Given the description of an element on the screen output the (x, y) to click on. 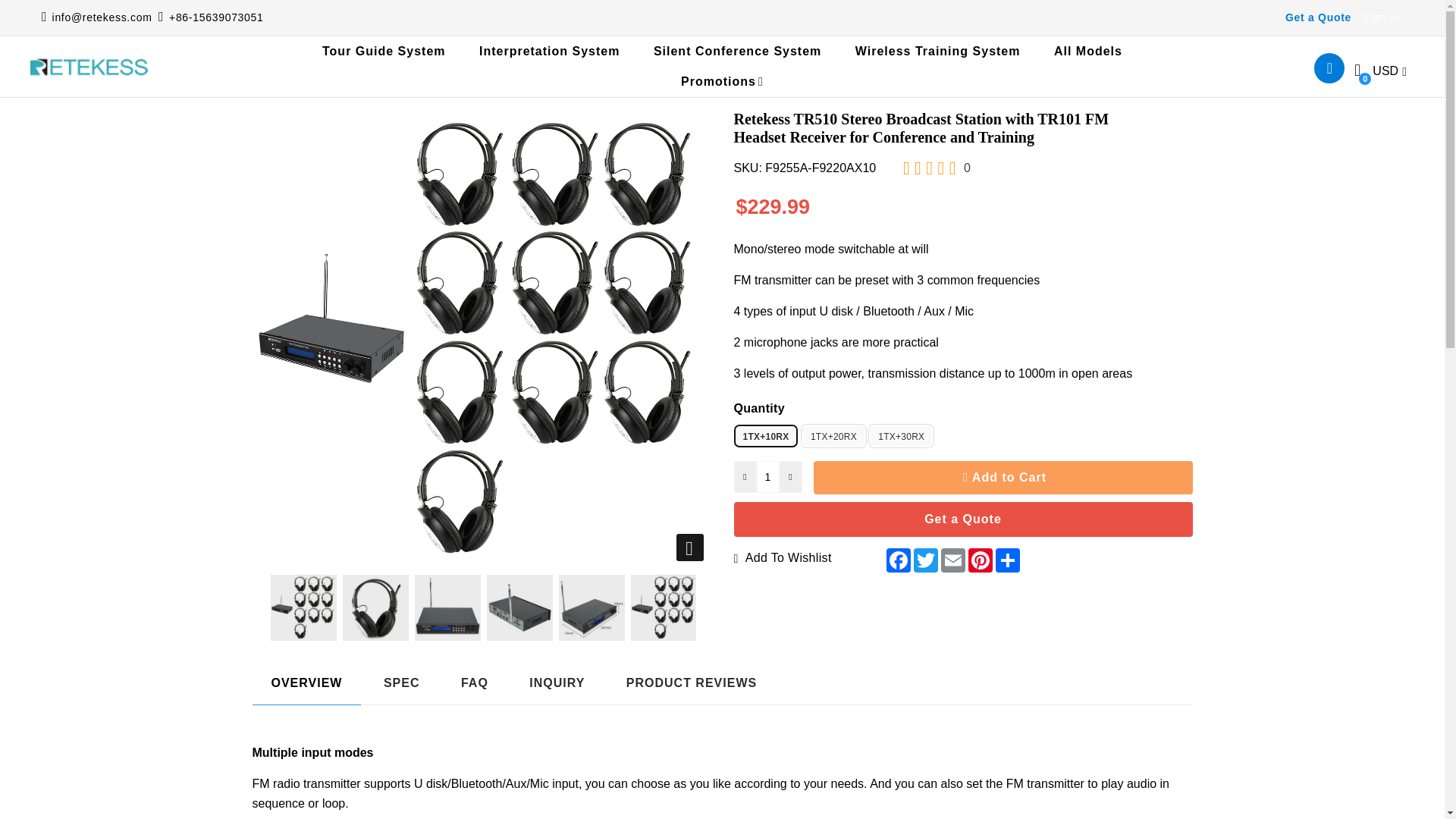
Tour Guide System (384, 51)
Interpretation System (549, 51)
Promotions (721, 81)
All Models (1088, 51)
Retekess (89, 66)
Silent Conference System (737, 51)
Get a Quote (1318, 17)
Wireless Training System (937, 51)
Silent Conference System (737, 51)
Tour Guide System (384, 51)
